Given the description of an element on the screen output the (x, y) to click on. 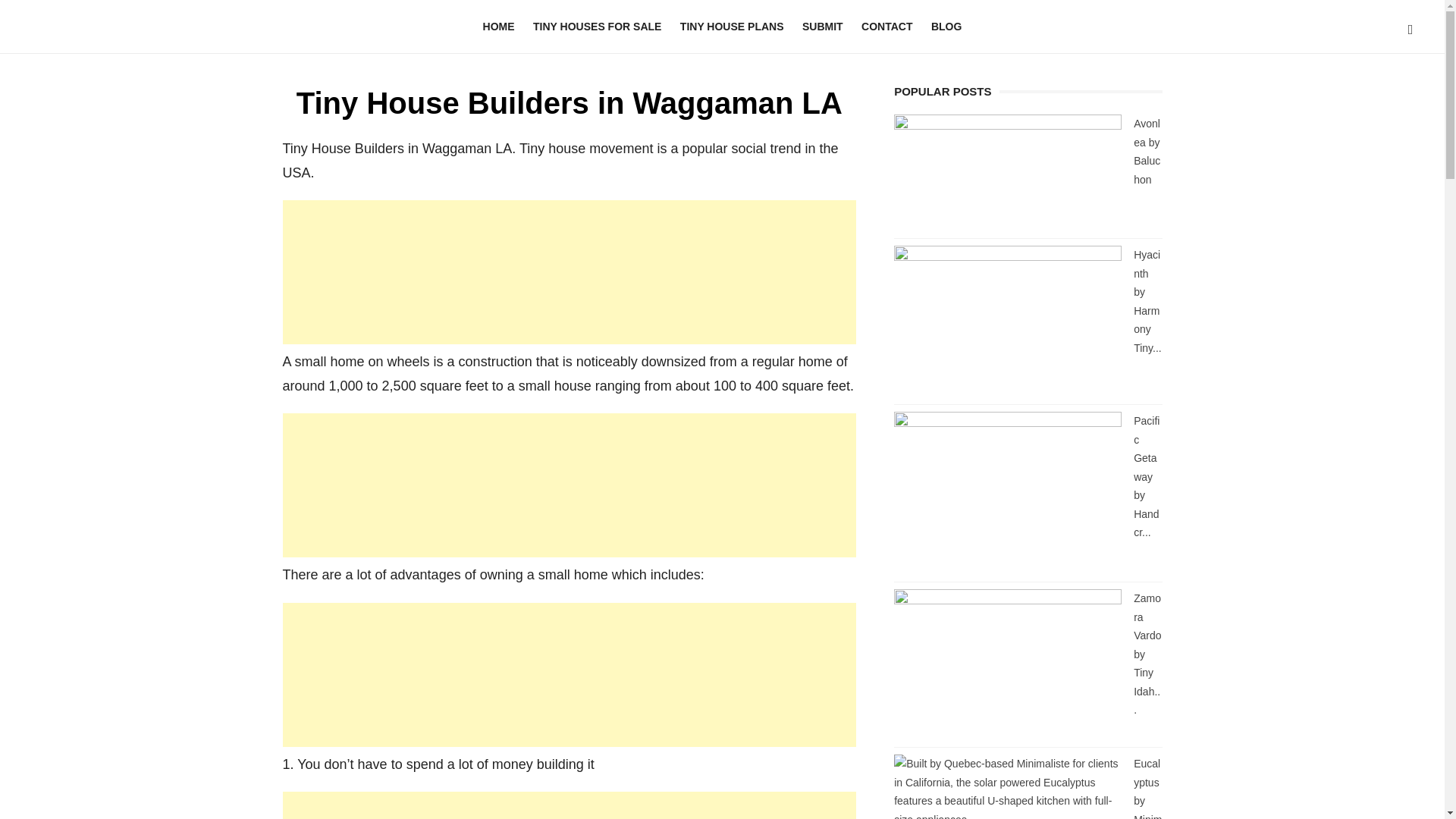
HOME (499, 26)
BLOG (946, 26)
TINY HOUSES FOR SALE (596, 26)
Tiny Houses Near Me (145, 22)
TINY HOUSE PLANS (732, 26)
SUBMIT (822, 26)
CONTACT (886, 26)
